Given the description of an element on the screen output the (x, y) to click on. 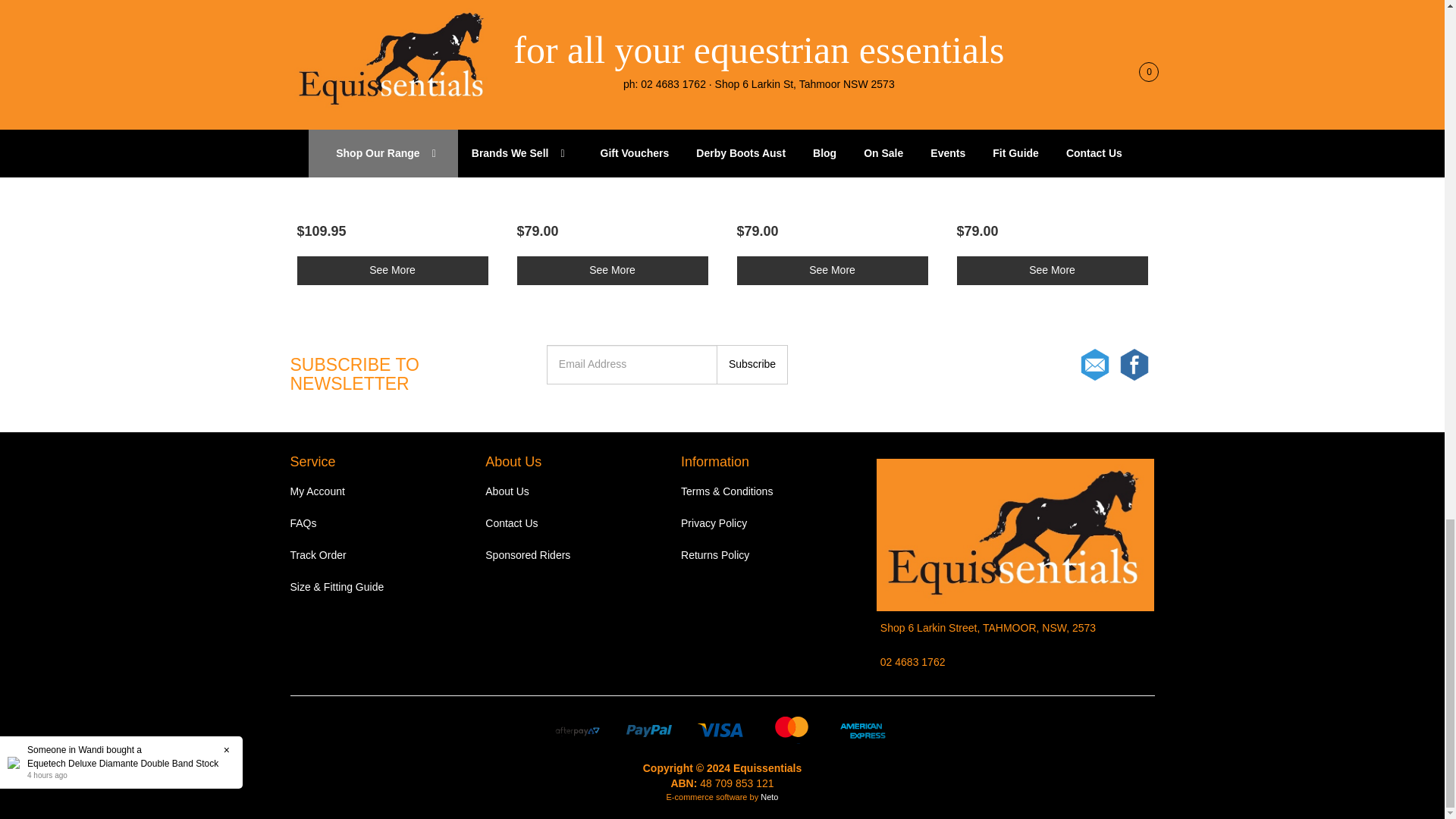
Subscribe (751, 364)
